Given the description of an element on the screen output the (x, y) to click on. 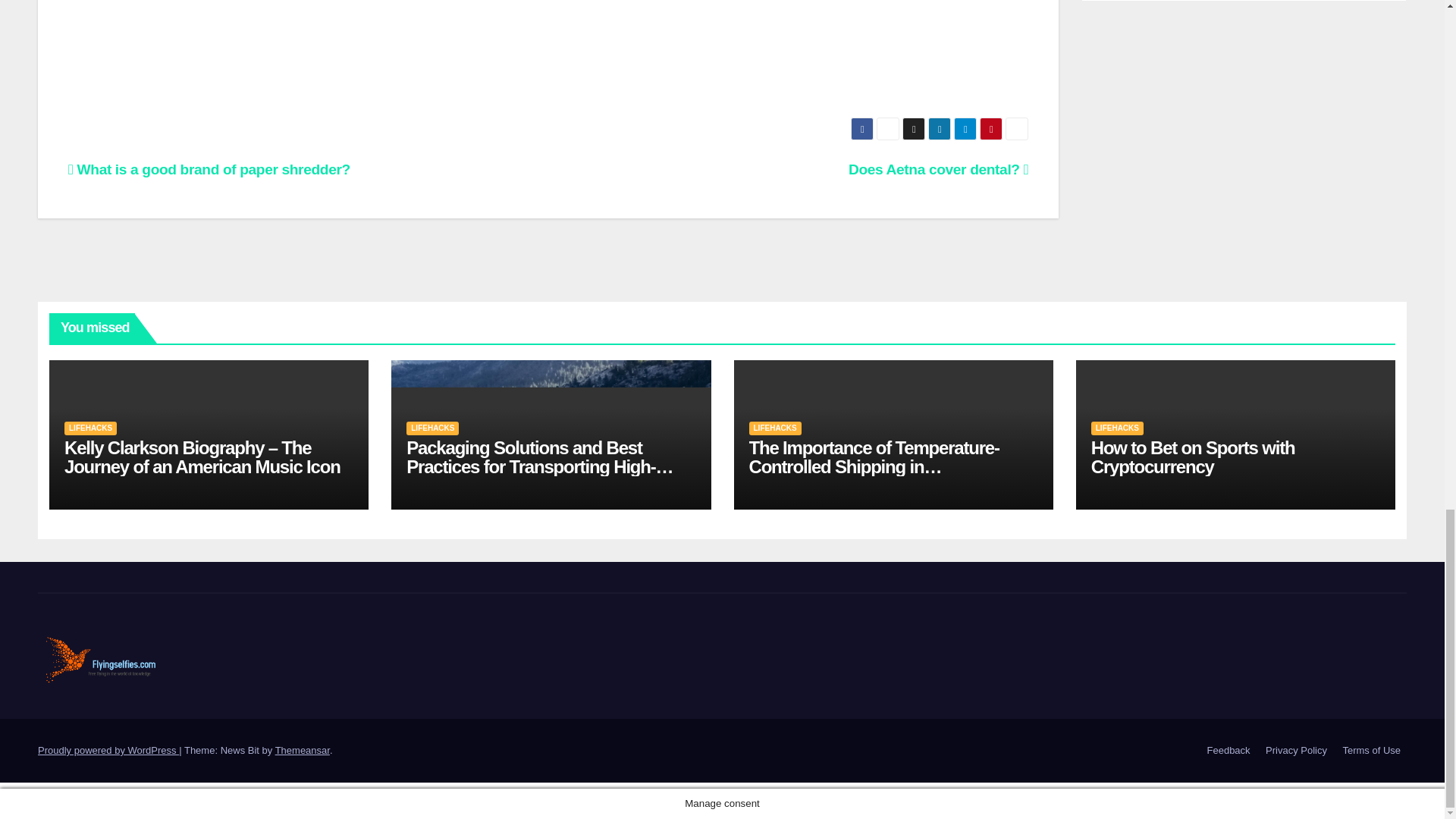
What is a good brand of paper shredder? (209, 169)
Does Aetna cover dental? (937, 169)
Privacy Policy (1296, 750)
Feedback (1228, 750)
Permalink to: How to Bet on Sports with Cryptocurrency (1192, 456)
Terms of Use (1371, 750)
